Given the description of an element on the screen output the (x, y) to click on. 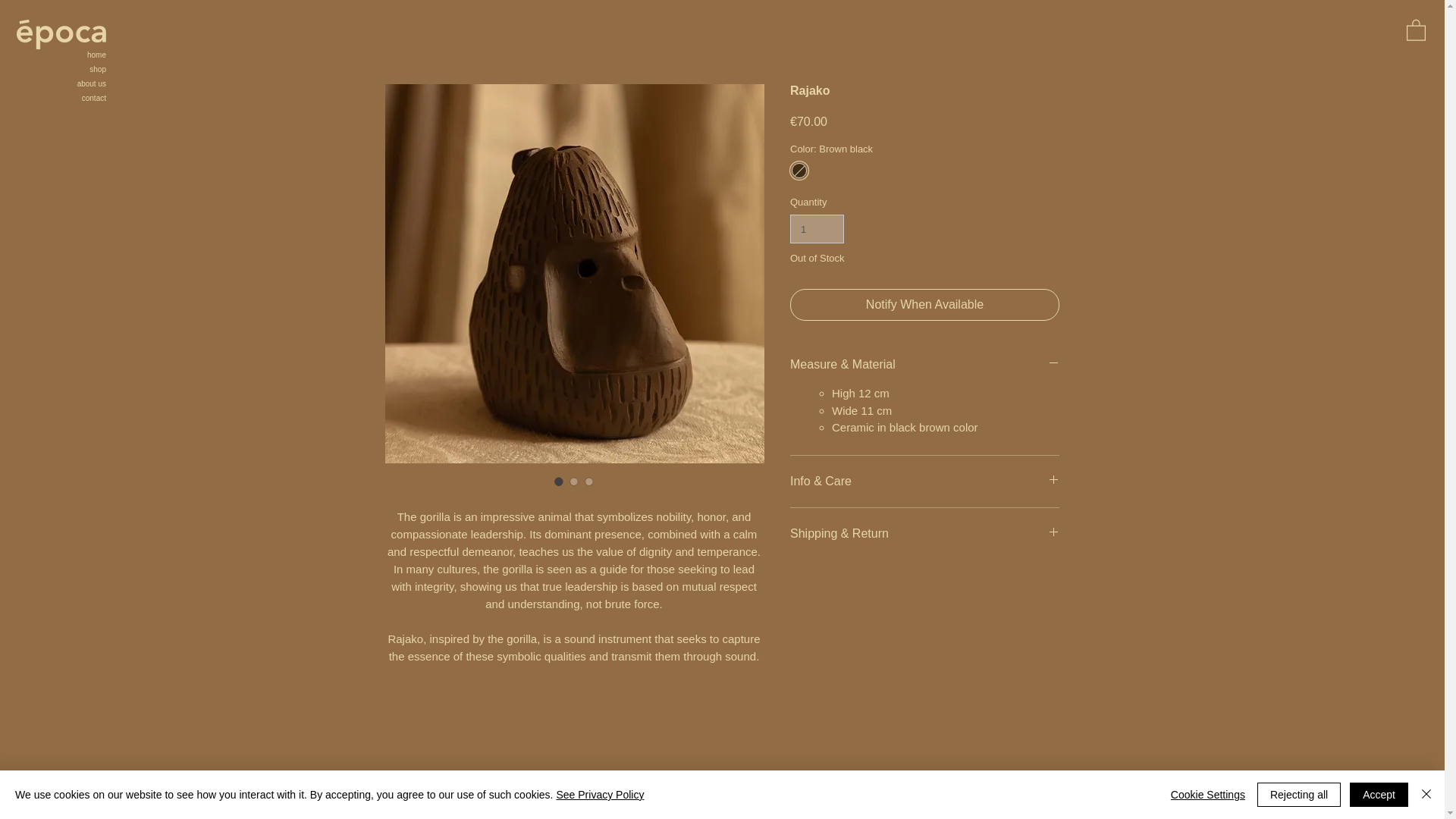
shop (64, 69)
See Privacy Policy (599, 794)
contact (64, 97)
home (64, 54)
Accept (1378, 794)
about us (64, 83)
Notify When Available (924, 305)
Rejecting all (1298, 794)
1 (817, 228)
